Given the description of an element on the screen output the (x, y) to click on. 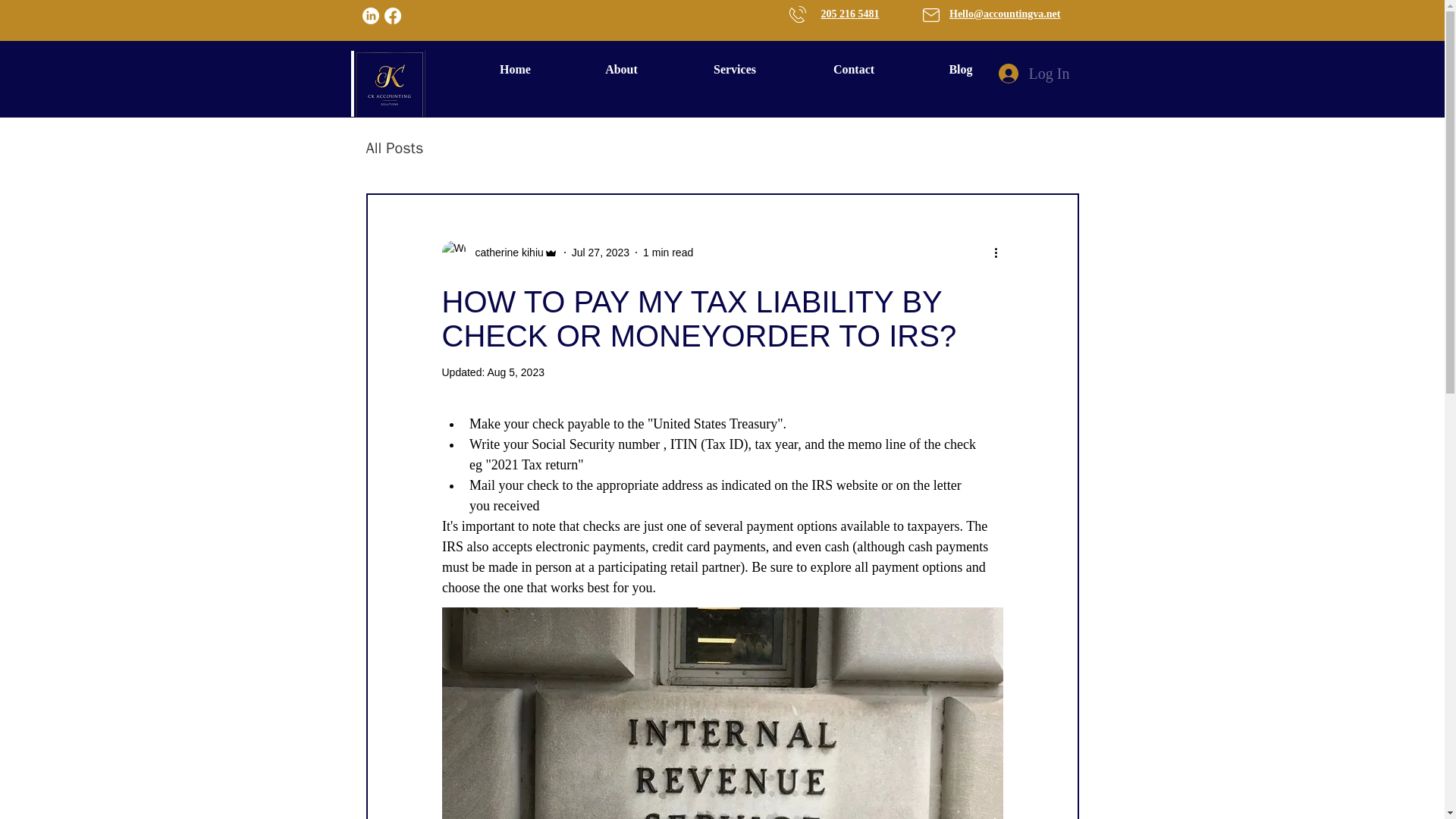
Blog (960, 69)
Services (734, 69)
205 216 5481 (850, 13)
All Posts (394, 148)
Jul 27, 2023 (600, 251)
catherine kihiu (504, 252)
catherine kihiu (499, 252)
1 min read (668, 251)
Aug 5, 2023 (515, 372)
Log In (1032, 73)
